Given the description of an element on the screen output the (x, y) to click on. 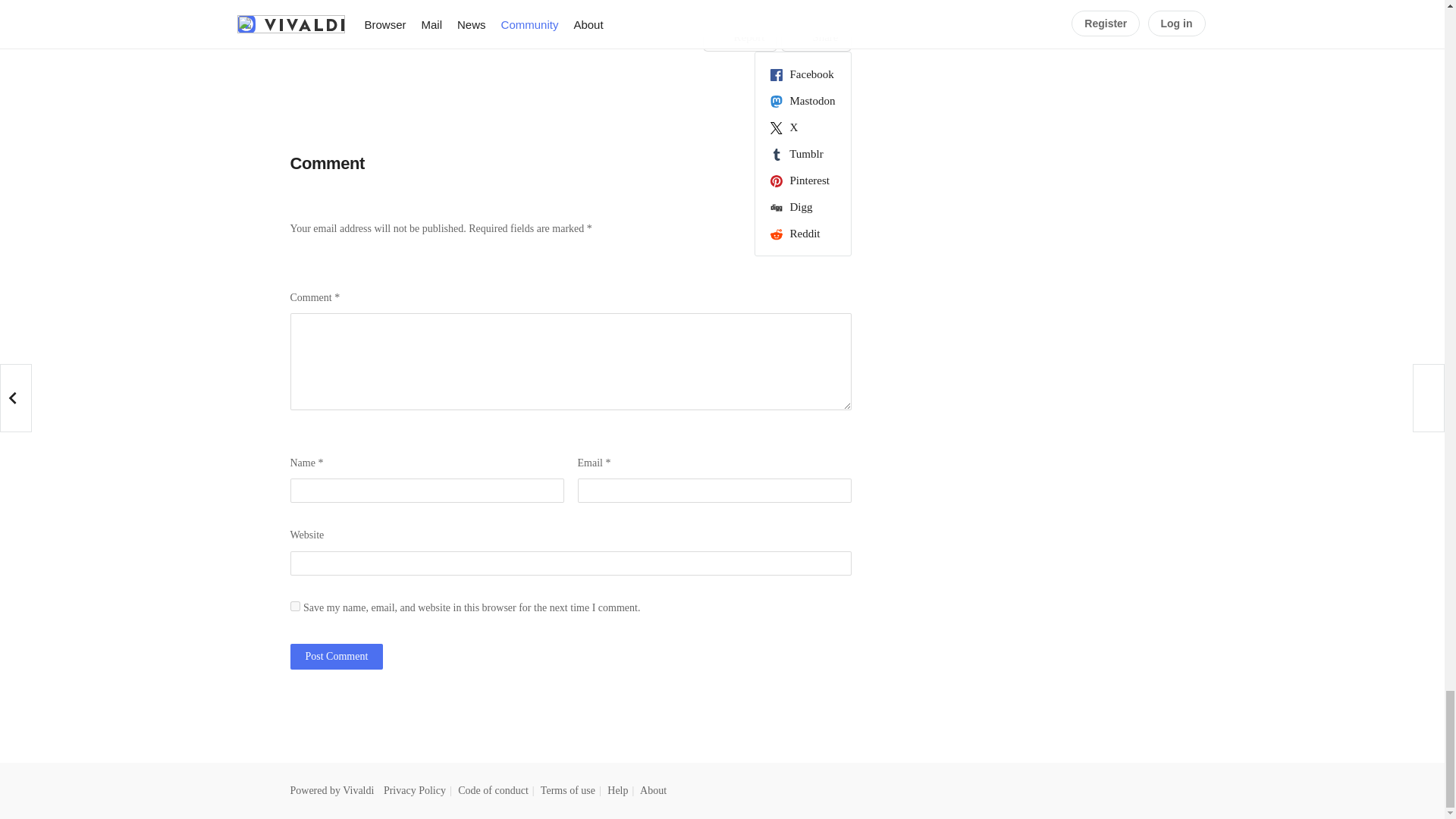
Pinterest (802, 180)
Terms of use (567, 790)
Facebook (802, 74)
Digg (802, 206)
Reddit (802, 233)
Post Comment (335, 656)
Share (815, 38)
Post Comment (335, 656)
Report (740, 38)
Code of conduct (493, 790)
Powered by Vivaldi (331, 790)
Tumblr (802, 153)
Privacy Policy (414, 790)
yes (294, 605)
X (802, 127)
